Given the description of an element on the screen output the (x, y) to click on. 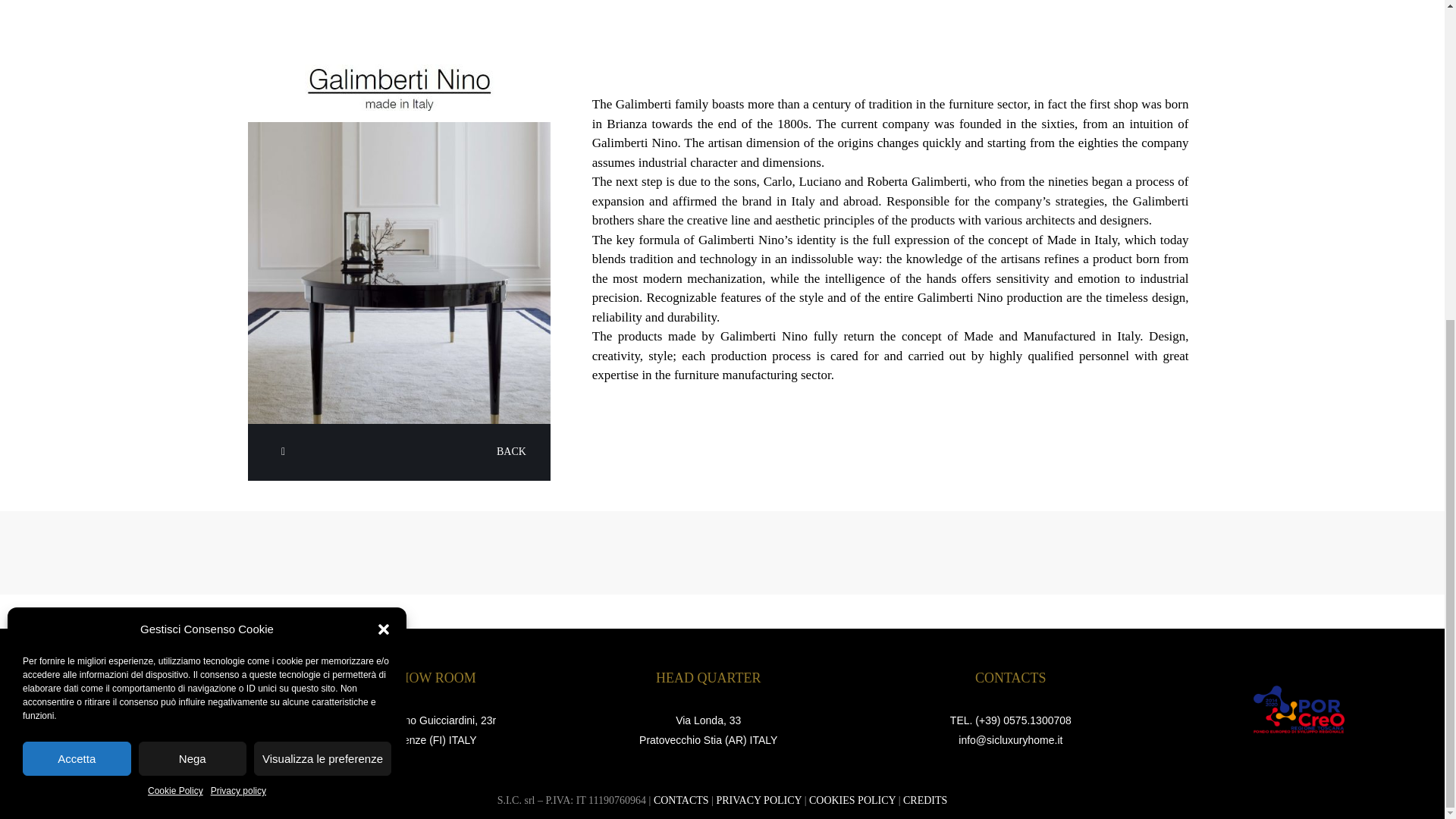
Cookie Policy (175, 273)
Visualizza le preferenze (322, 240)
Nega (192, 240)
Accetta (77, 240)
SIC LUXURY HOME (131, 709)
CREDITS (924, 799)
CONTACTS (681, 799)
Privacy policy (238, 273)
Galimberti Nino (398, 273)
COOKIES POLICY (852, 799)
PRIVACY POLICY (759, 799)
